Given the description of an element on the screen output the (x, y) to click on. 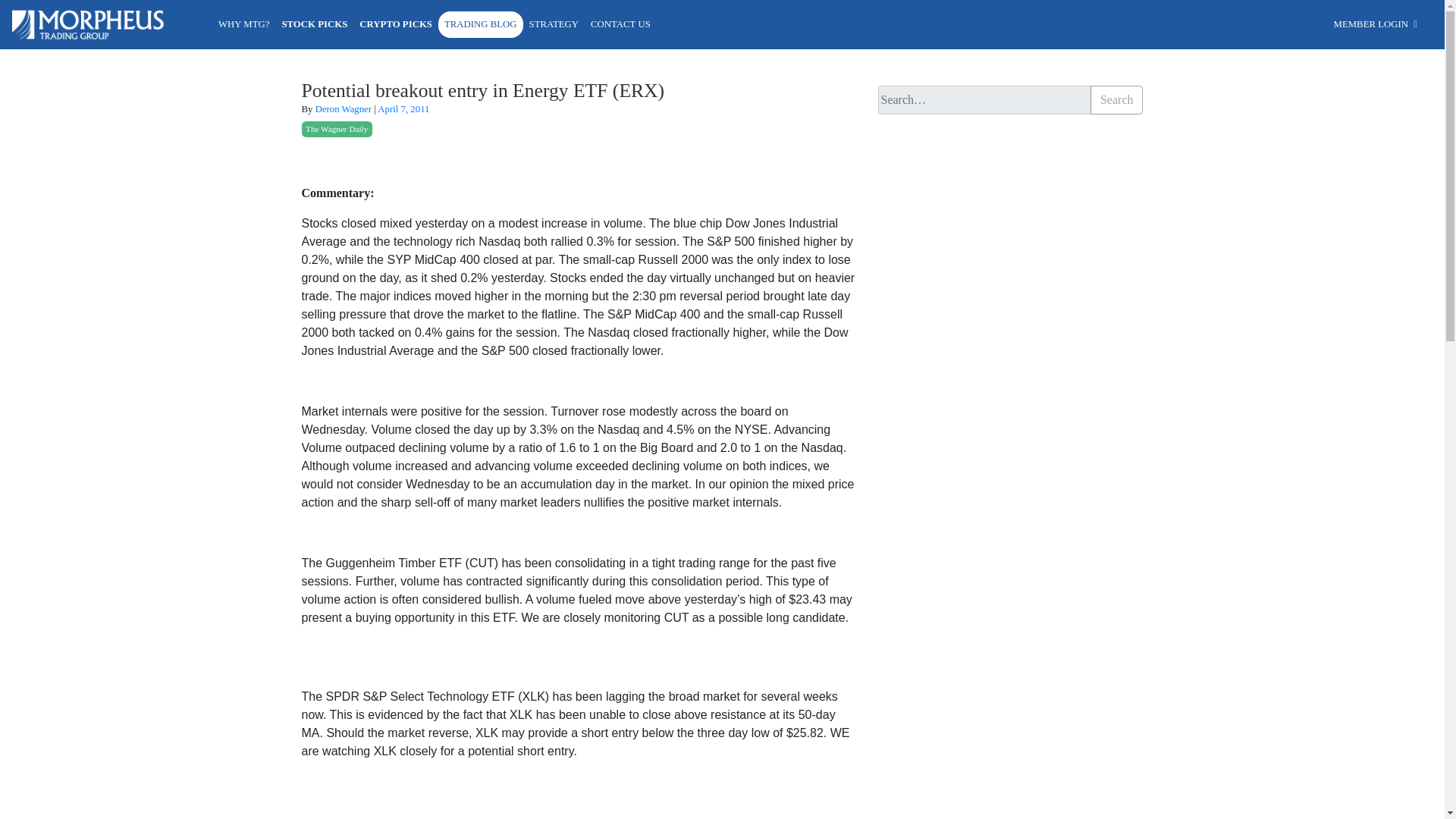
CRYPTO PICKS (395, 24)
The Wagner Daily (336, 129)
Search (1116, 99)
April 7, 2011 (403, 109)
STRATEGY (553, 24)
Deron Wagner (343, 109)
TRADING BLOG (480, 24)
CONTACT US (620, 24)
MTG Members Login (1377, 24)
STOCK PICKS (314, 24)
